Given the description of an element on the screen output the (x, y) to click on. 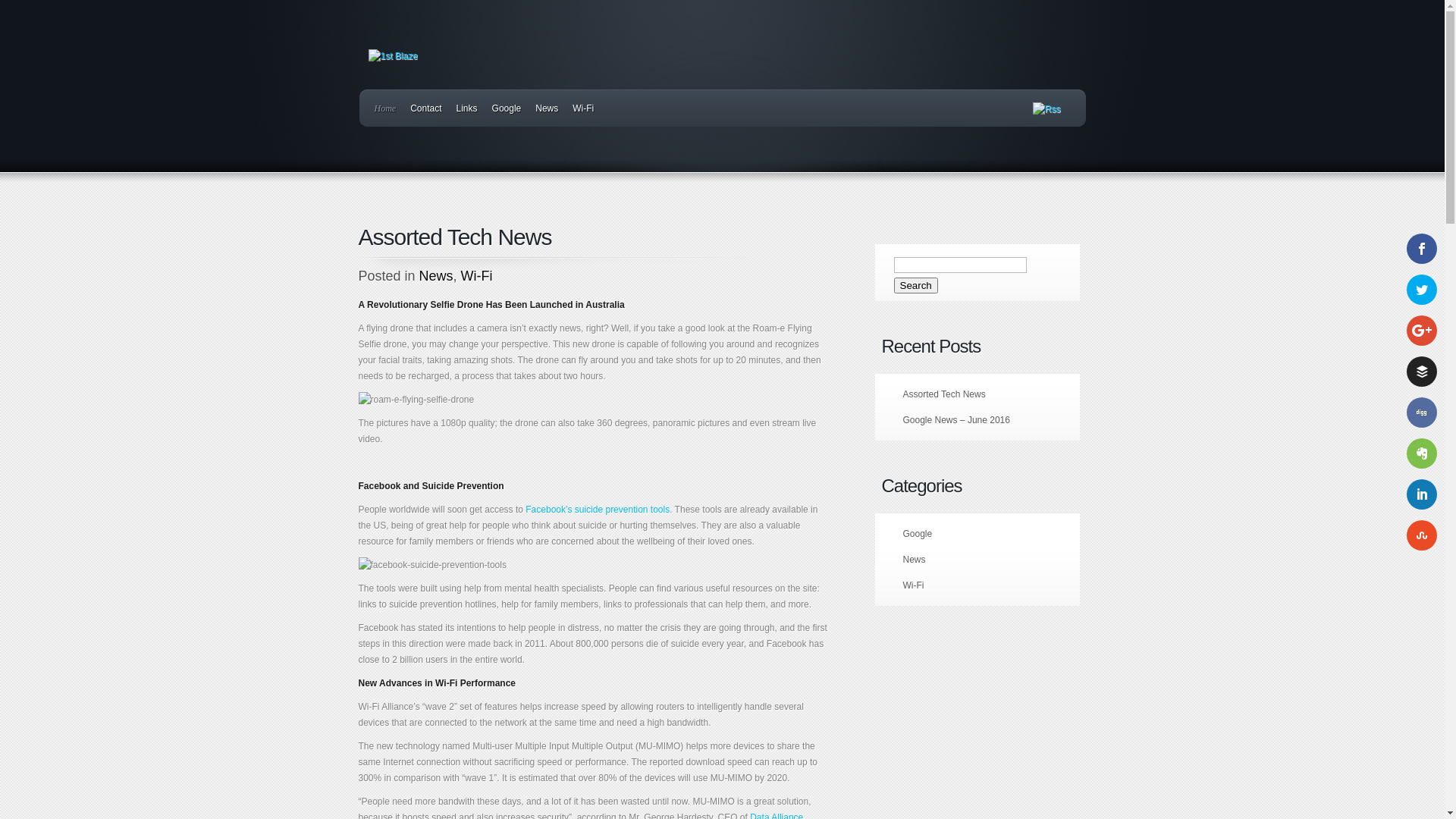
News Element type: text (546, 108)
News Element type: text (436, 275)
Search Element type: text (915, 285)
Google Element type: text (506, 108)
Assorted Tech News Element type: text (943, 394)
Wi-Fi Element type: text (582, 108)
Wi-Fi Element type: text (476, 275)
Wi-Fi Element type: text (912, 585)
News Element type: text (913, 559)
Links Element type: text (466, 108)
Home Element type: text (385, 108)
Contact Element type: text (425, 108)
Assorted Tech News Element type: text (454, 236)
Google Element type: text (916, 533)
